Given the description of an element on the screen output the (x, y) to click on. 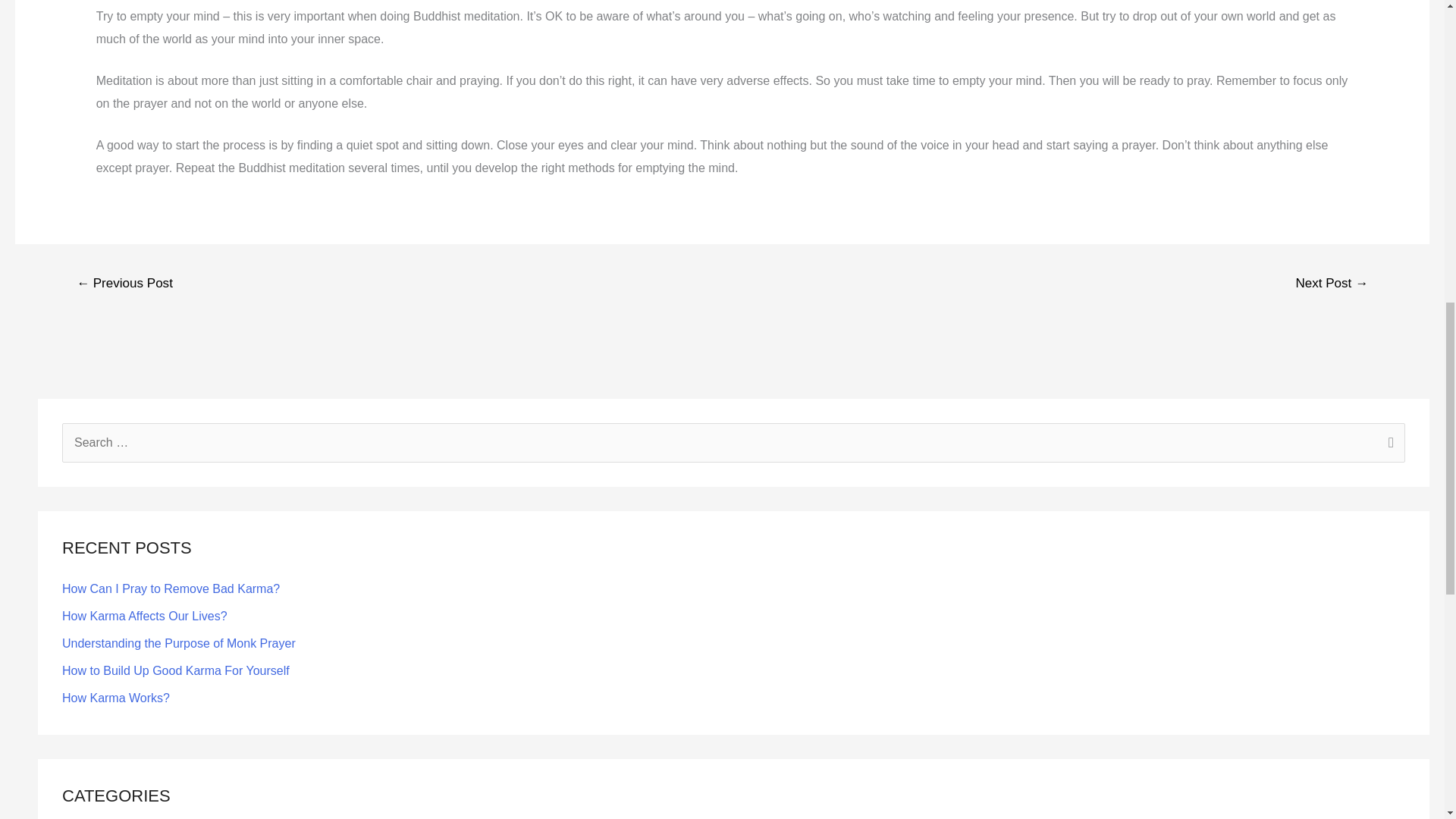
How Karma Affects Our Lives? (144, 615)
How Karma Works? (116, 697)
How to Build Up Good Karma For Yourself (175, 670)
Understanding the Purpose of Monk Prayer (178, 643)
How Can I Pray to Remove Bad Karma? (170, 588)
